Given the description of an element on the screen output the (x, y) to click on. 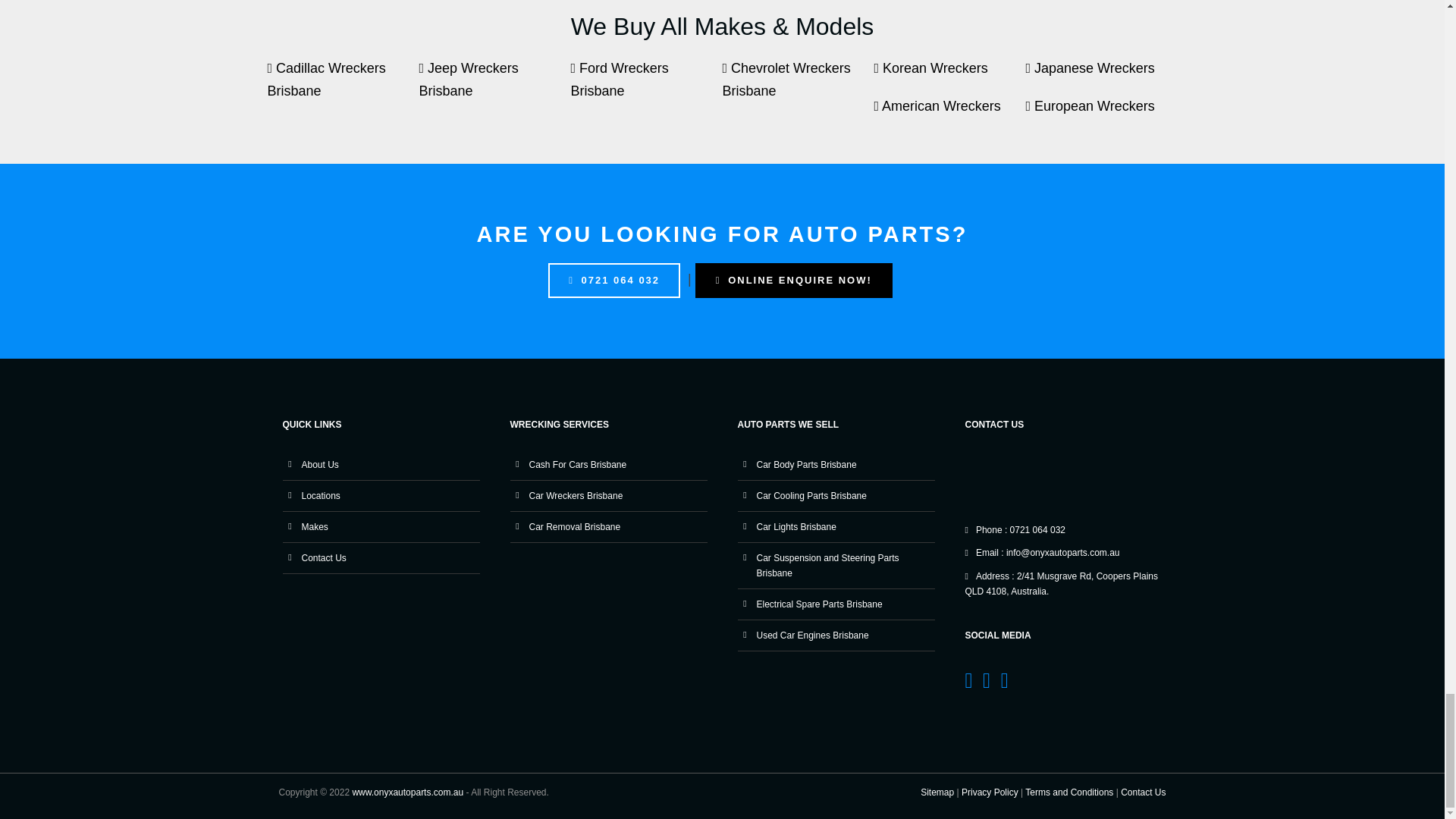
Cadillac Wreckers Brisbane (342, 86)
European Wreckers (1100, 114)
Chevrolet Wreckers Brisbane (797, 86)
American Wreckers (949, 114)
Jeep Wreckers Brisbane (494, 86)
Japanese Wreckers (1100, 75)
Ford Wreckers Brisbane (646, 86)
Korean Wreckers (949, 75)
